Given the description of an element on the screen output the (x, y) to click on. 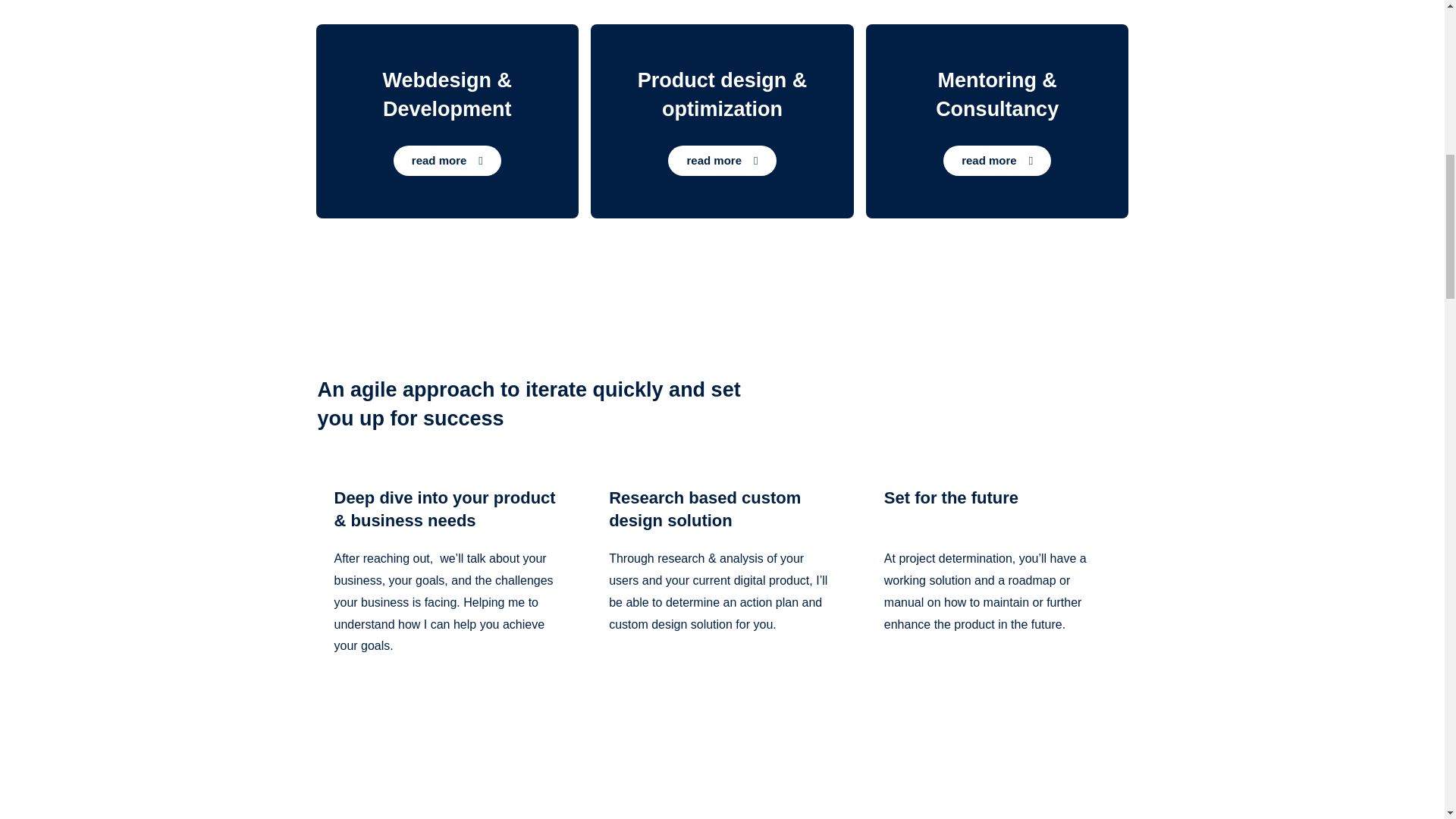
read more (722, 160)
read more (446, 160)
read more (997, 160)
